Given the description of an element on the screen output the (x, y) to click on. 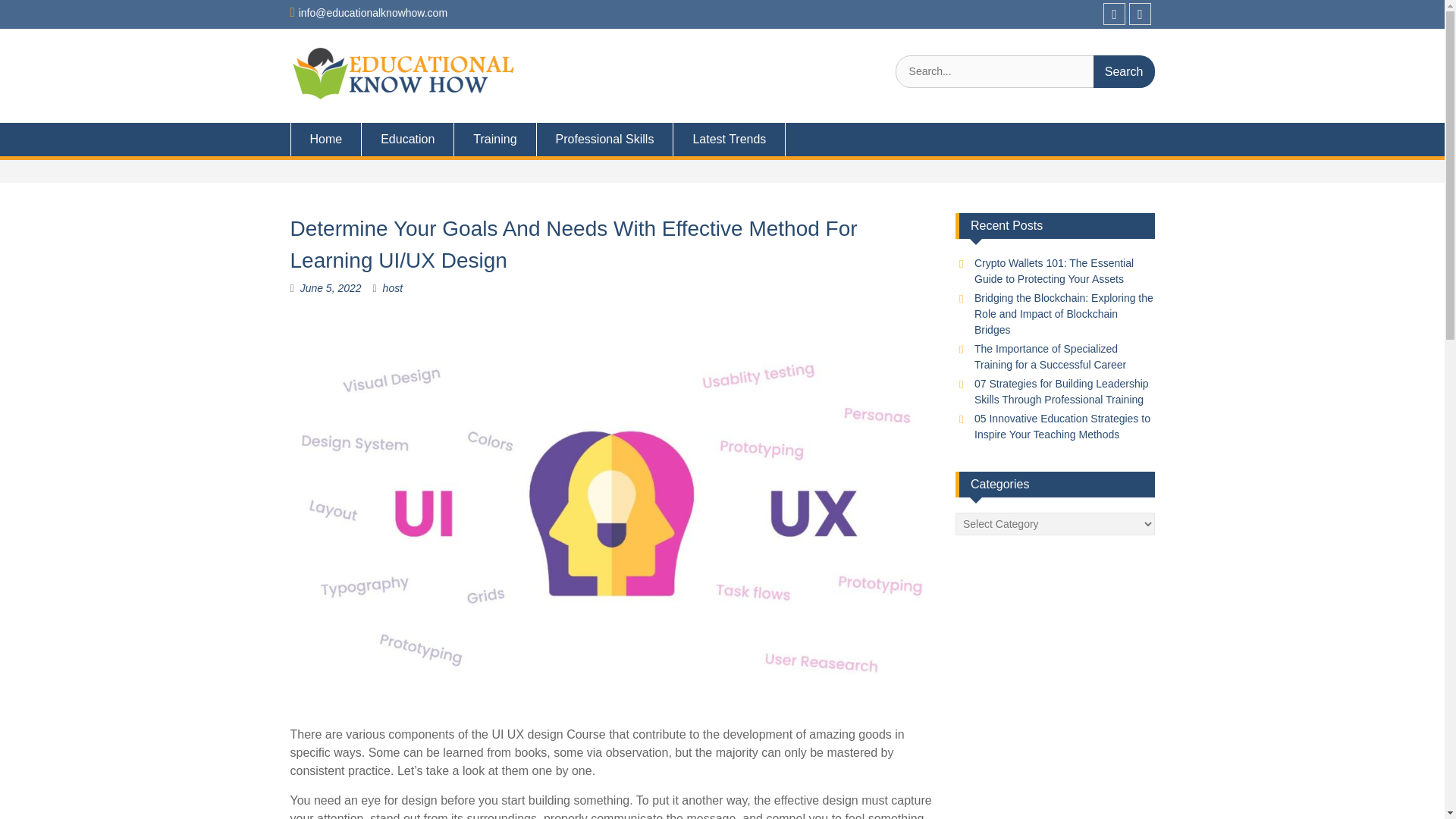
June 5, 2022 (330, 287)
Search (1123, 71)
Twitter (1140, 14)
Training (494, 139)
Home (325, 139)
facebook (1114, 14)
Professional Skills (605, 139)
Search (1123, 71)
